Given the description of an element on the screen output the (x, y) to click on. 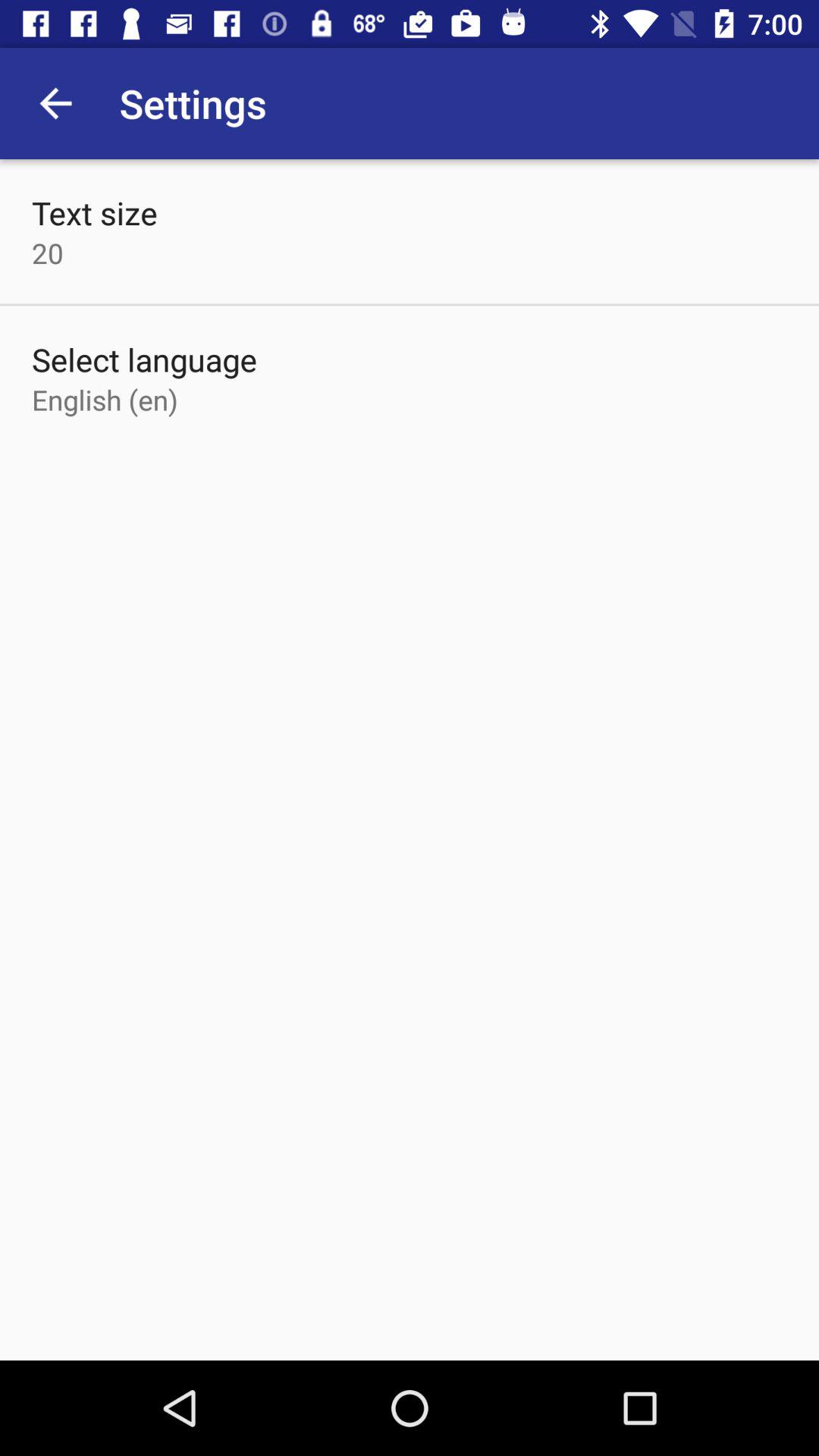
flip until the english (en) icon (104, 399)
